Given the description of an element on the screen output the (x, y) to click on. 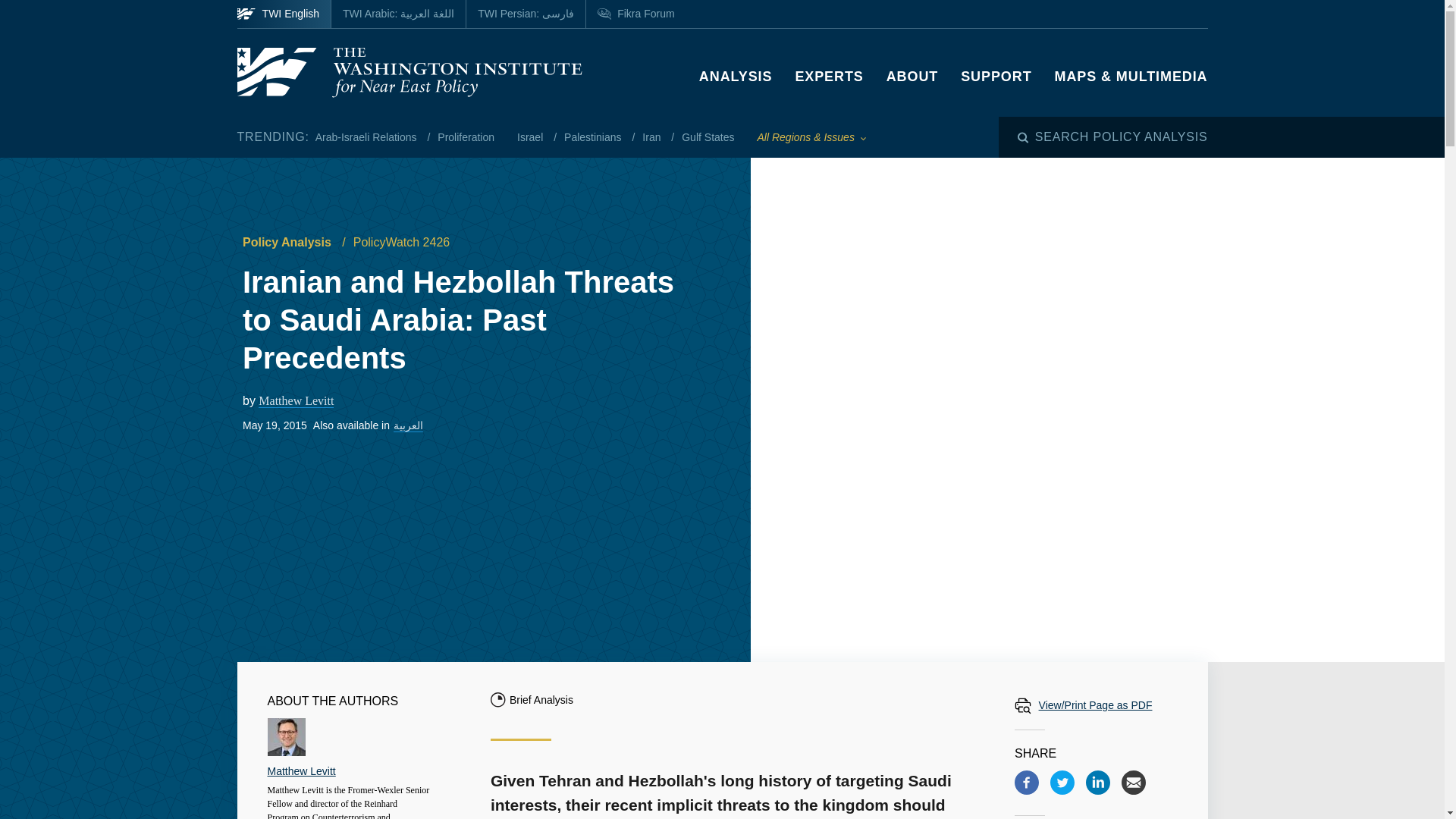
Israel (531, 136)
Twitter (1061, 782)
ANALYSIS (735, 76)
Gulf States (707, 136)
Facebook (1026, 782)
Proliferation (466, 136)
Linkedin (1097, 782)
Email (1133, 782)
SUPPORT (995, 76)
